Given the description of an element on the screen output the (x, y) to click on. 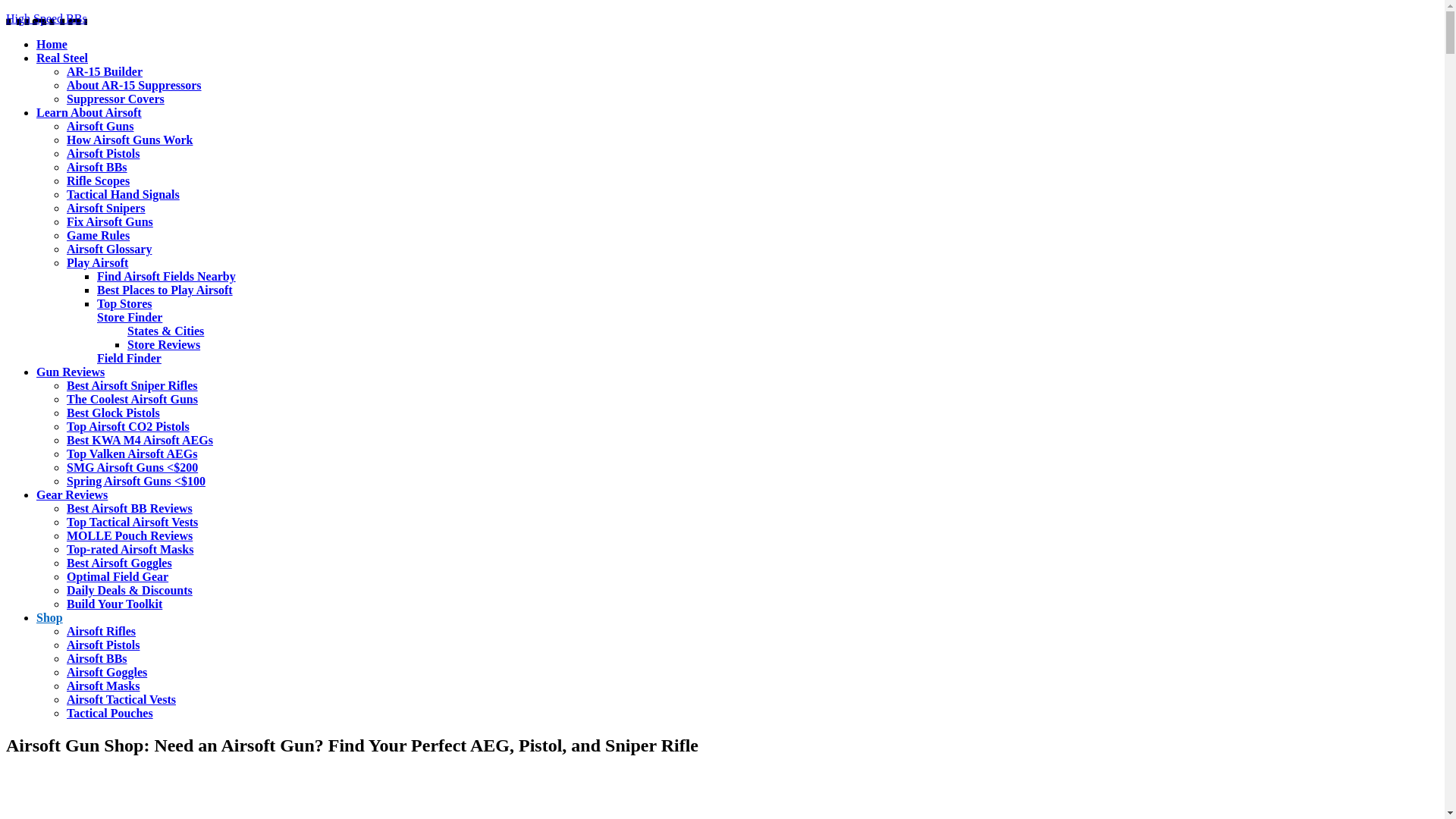
Field Finder Element type: text (129, 357)
Shop Element type: text (49, 617)
Home Element type: text (51, 43)
Top-rated Airsoft Masks Element type: text (129, 548)
Play Airsoft Element type: text (97, 262)
Game Rules Element type: text (97, 235)
Best Airsoft BB Reviews Element type: text (129, 508)
Suppressor Covers Element type: text (115, 98)
Real Steel Element type: text (61, 57)
How Airsoft Guns Work Element type: text (129, 139)
Tactical Hand Signals Element type: text (122, 194)
Rifle Scopes Element type: text (97, 180)
Airsoft Snipers Element type: text (105, 207)
About AR-15 Suppressors Element type: text (133, 84)
Best Glock Pistols Element type: text (113, 412)
Spring Airsoft Guns <$100 Element type: text (135, 480)
Airsoft Pistols Element type: text (102, 153)
Best Airsoft Goggles Element type: text (119, 562)
Learn About Airsoft Element type: text (88, 112)
Top Stores Element type: text (124, 303)
Airsoft BBs Element type: text (96, 658)
States & Cities Element type: text (165, 330)
Daily Deals & Discounts Element type: text (129, 589)
Top Airsoft CO2 Pistols Element type: text (127, 426)
High Speed BBs Element type: text (46, 18)
Fix Airsoft Guns Element type: text (109, 221)
Airsoft Goggles Element type: text (106, 671)
Airsoft BBs Element type: text (96, 166)
Best Places to Play Airsoft Element type: text (164, 289)
Top Valken Airsoft AEGs Element type: text (131, 453)
The Coolest Airsoft Guns Element type: text (131, 398)
Store Finder Element type: text (129, 316)
Tactical Pouches Element type: text (109, 712)
Build Your Toolkit Element type: text (114, 603)
Optimal Field Gear Element type: text (117, 576)
Airsoft Rifles Element type: text (100, 630)
Airsoft Guns Element type: text (99, 125)
Airsoft Tactical Vests Element type: text (120, 699)
Best Airsoft Sniper Rifles Element type: text (131, 385)
Gear Reviews Element type: text (71, 494)
Airsoft Pistols Element type: text (102, 644)
Top Tactical Airsoft Vests Element type: text (131, 521)
MOLLE Pouch Reviews Element type: text (129, 535)
SMG Airsoft Guns <$200 Element type: text (131, 467)
Airsoft Masks Element type: text (102, 685)
Gun Reviews Element type: text (70, 371)
Store Reviews Element type: text (163, 344)
AR-15 Builder Element type: text (104, 71)
Airsoft Glossary Element type: text (108, 248)
Find Airsoft Fields Nearby Element type: text (166, 275)
Best KWA M4 Airsoft AEGs Element type: text (139, 439)
